Given the description of an element on the screen output the (x, y) to click on. 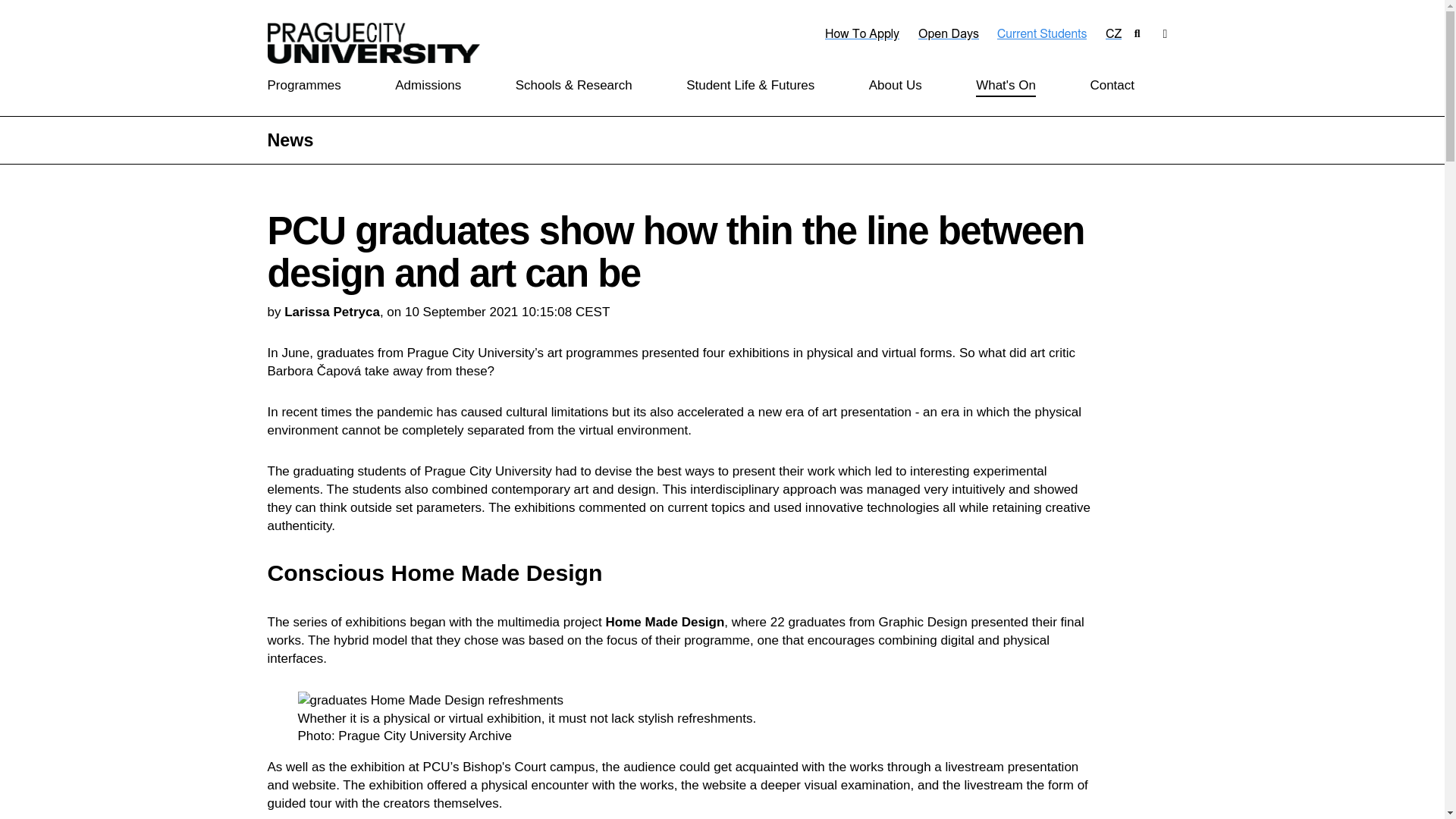
Admissions (427, 85)
Programmes (303, 85)
